Given the description of an element on the screen output the (x, y) to click on. 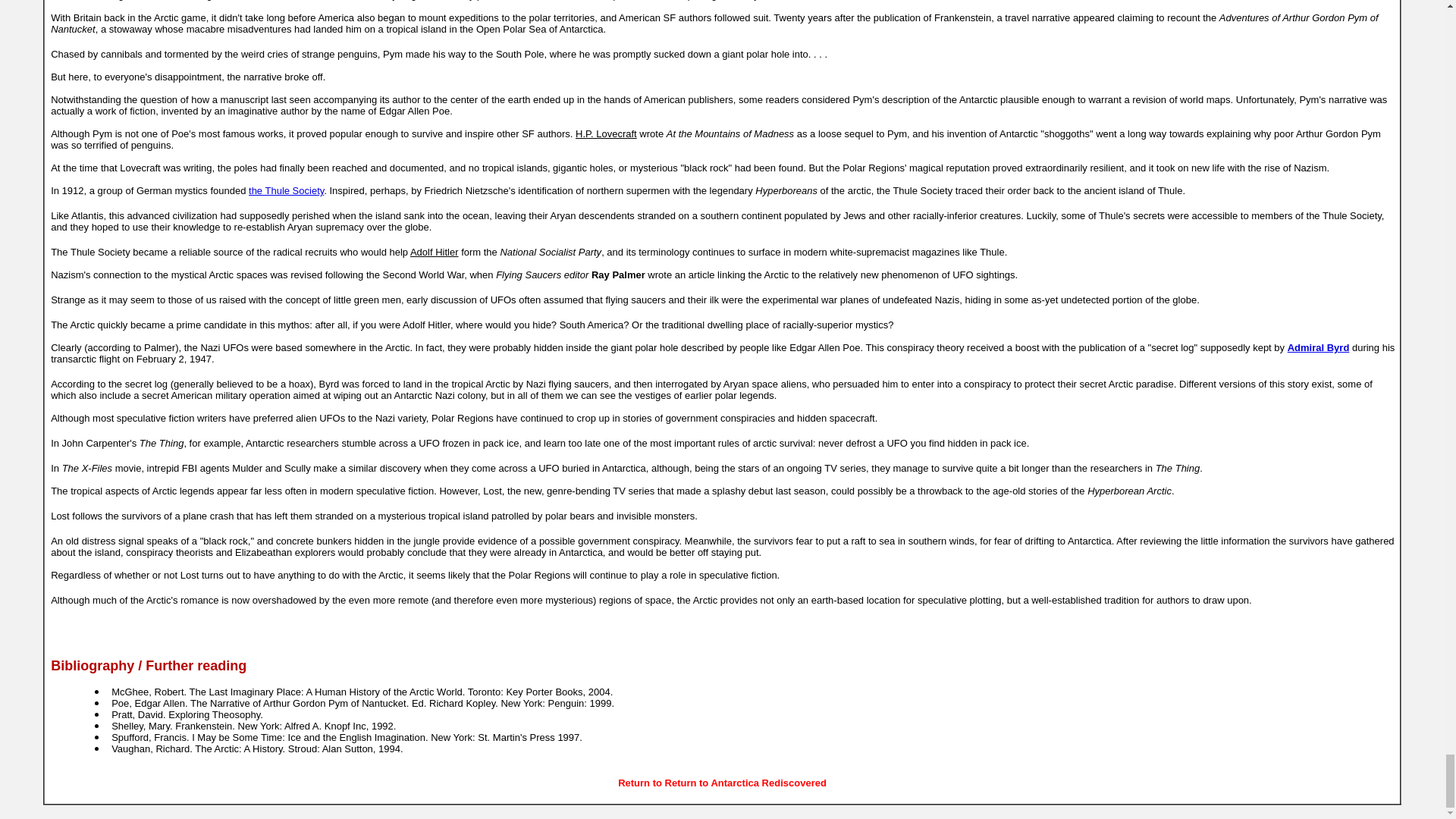
Return to Return to Antarctica Rediscovered (722, 782)
Admiral Byrd (1318, 347)
the Thule Society (285, 190)
